Given the description of an element on the screen output the (x, y) to click on. 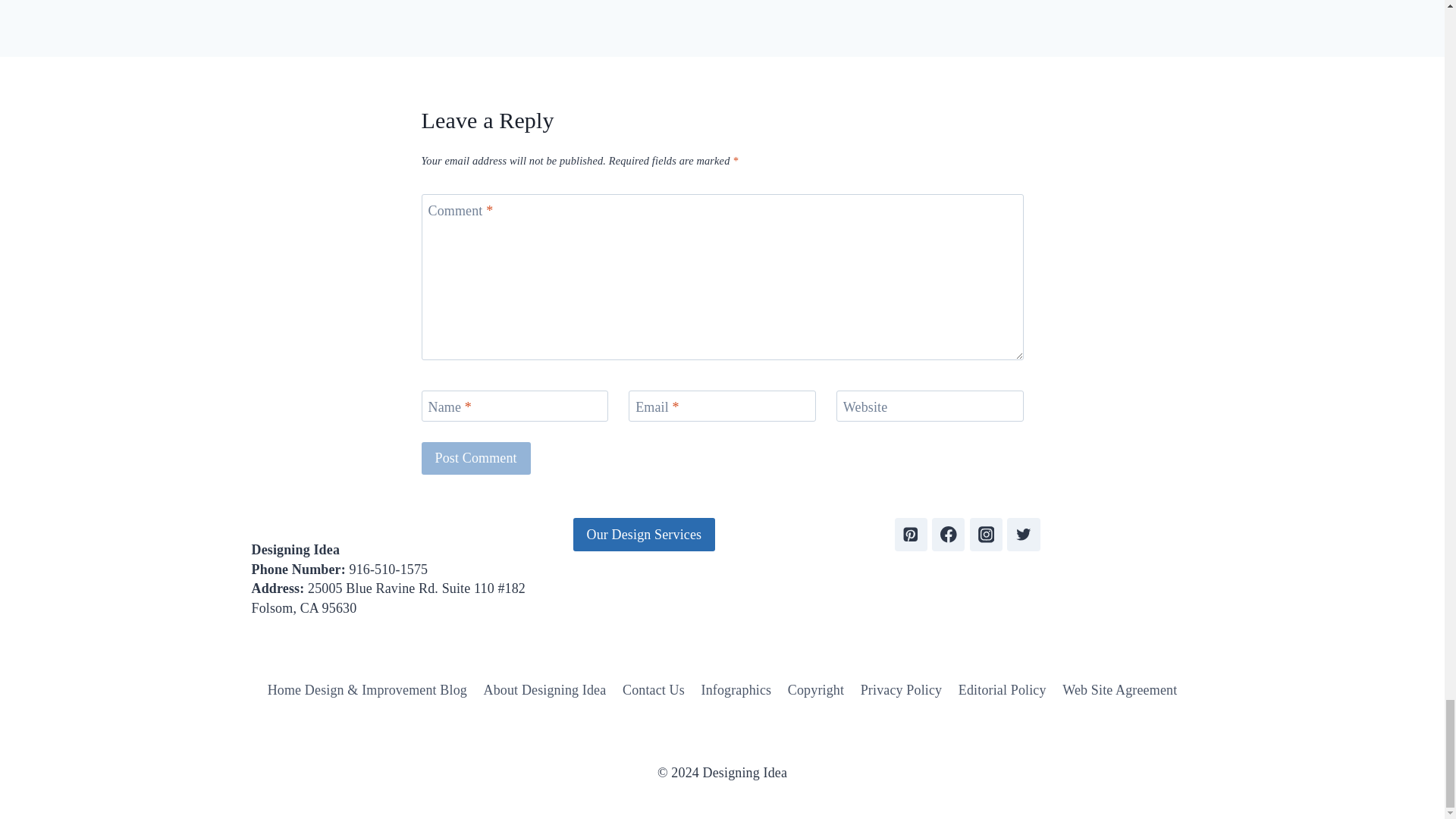
Post Comment (476, 458)
